Given the description of an element on the screen output the (x, y) to click on. 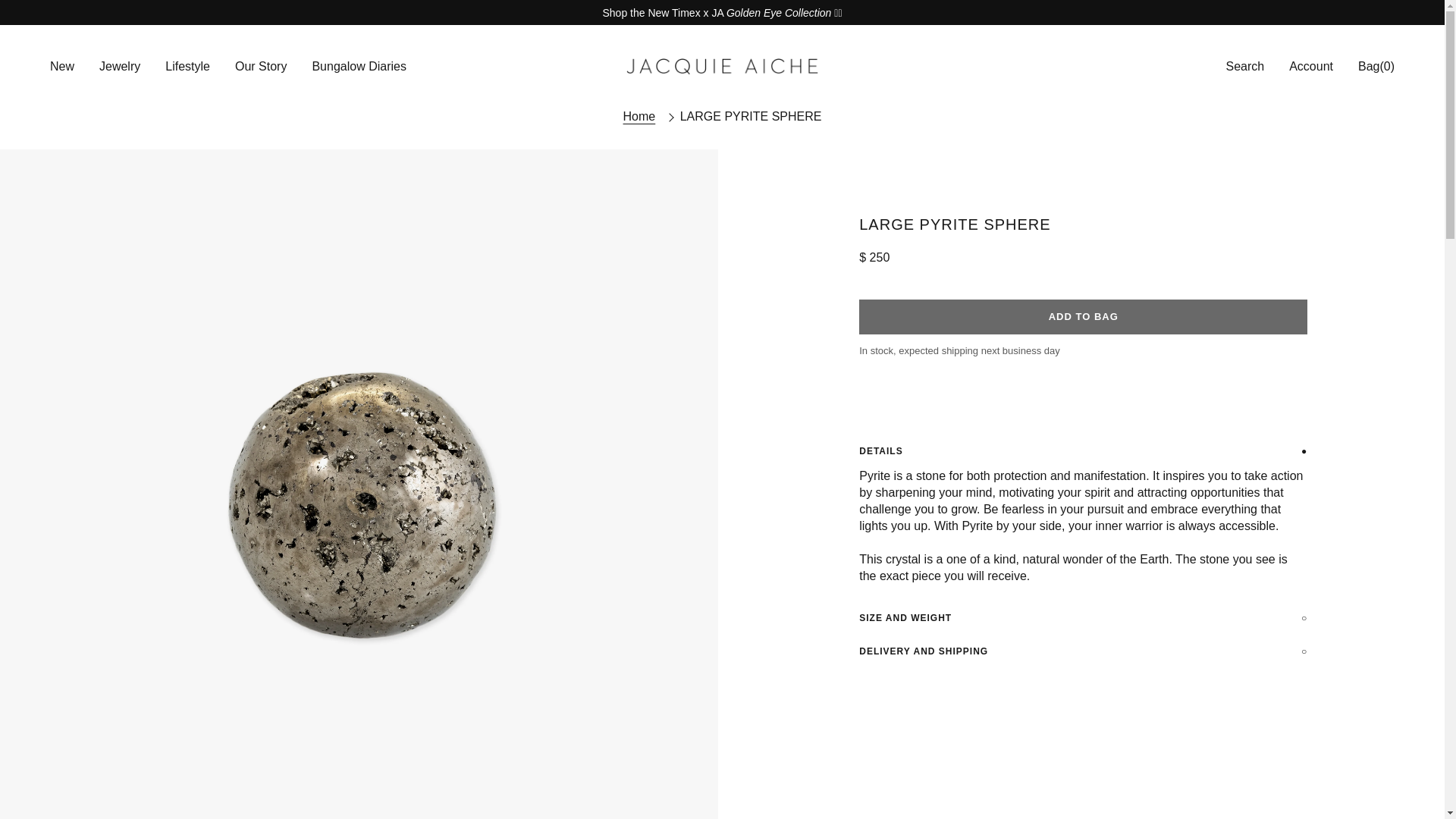
Jewelry (119, 66)
Golden Eye Collection (778, 11)
Timex (778, 11)
Lifestyle (187, 66)
Search (1187, 66)
